Given the description of an element on the screen output the (x, y) to click on. 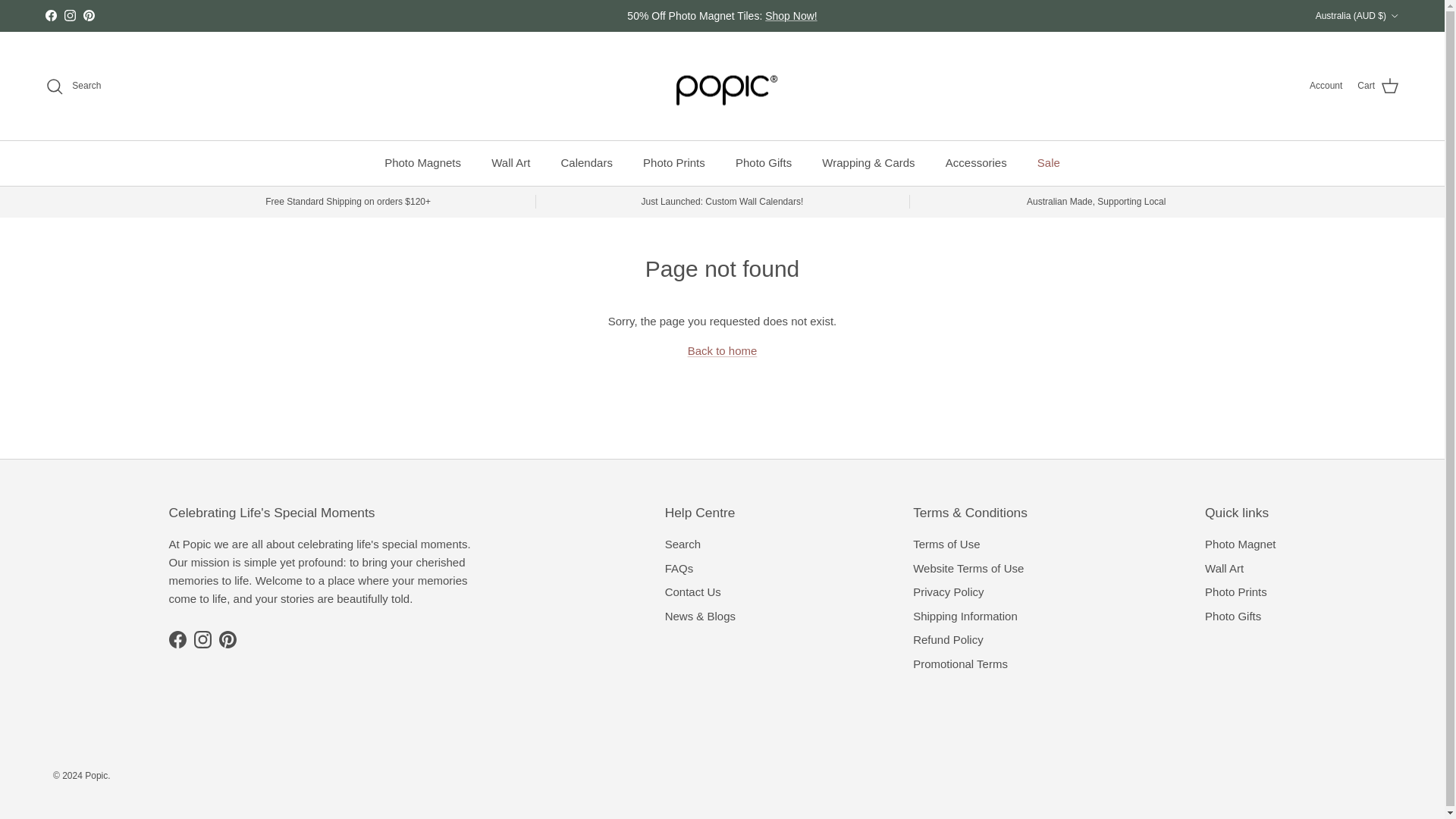
Accessories (975, 162)
Popic on Instagram (202, 639)
Photo Magnets (422, 162)
Photo Gifts (763, 162)
Popic on Instagram (69, 15)
Photo Prints (673, 162)
Account (1325, 85)
Popic (721, 86)
Popic on Facebook (177, 639)
Calendars (586, 162)
